Given the description of an element on the screen output the (x, y) to click on. 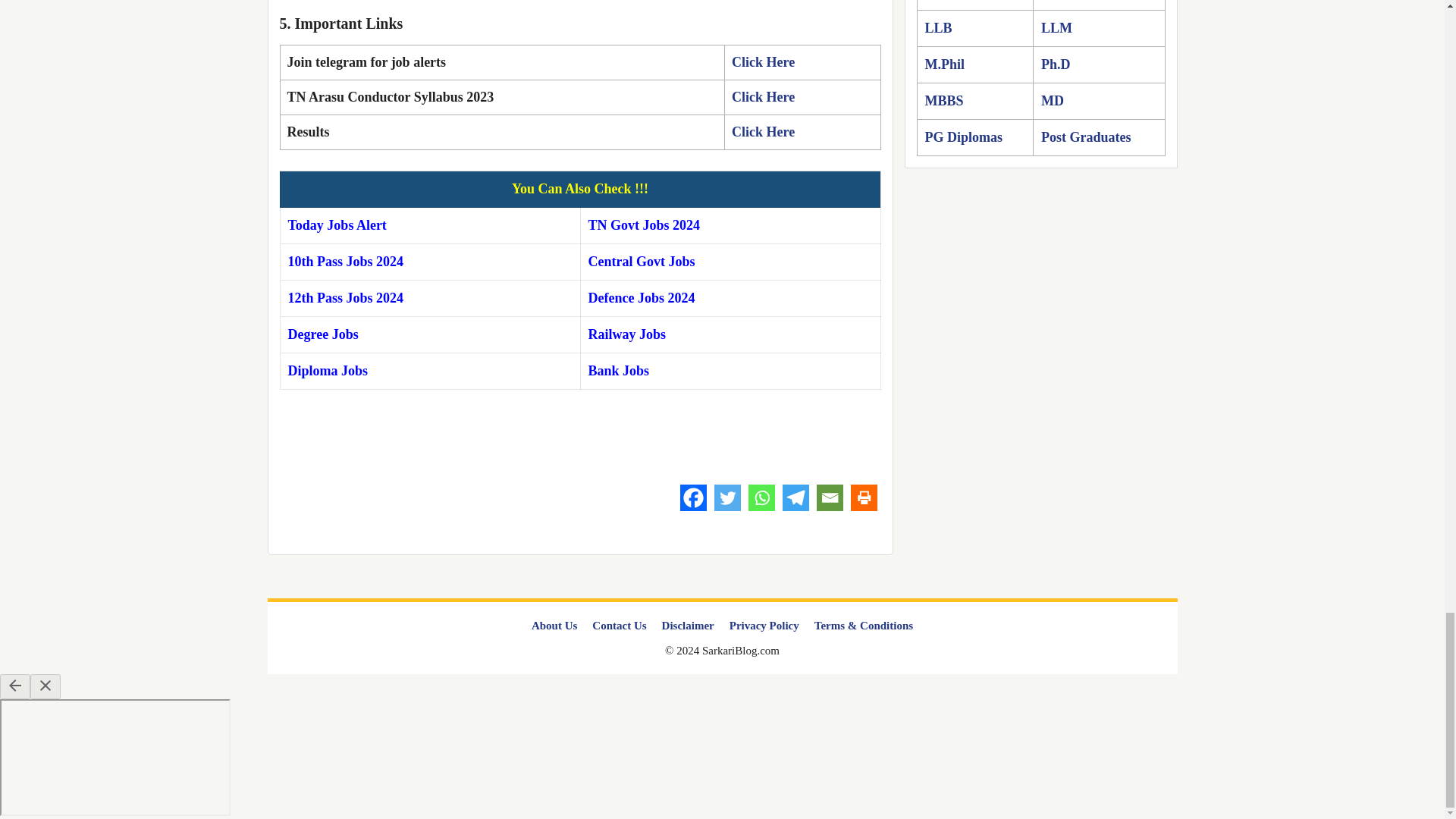
Click Here (763, 61)
